Given the description of an element on the screen output the (x, y) to click on. 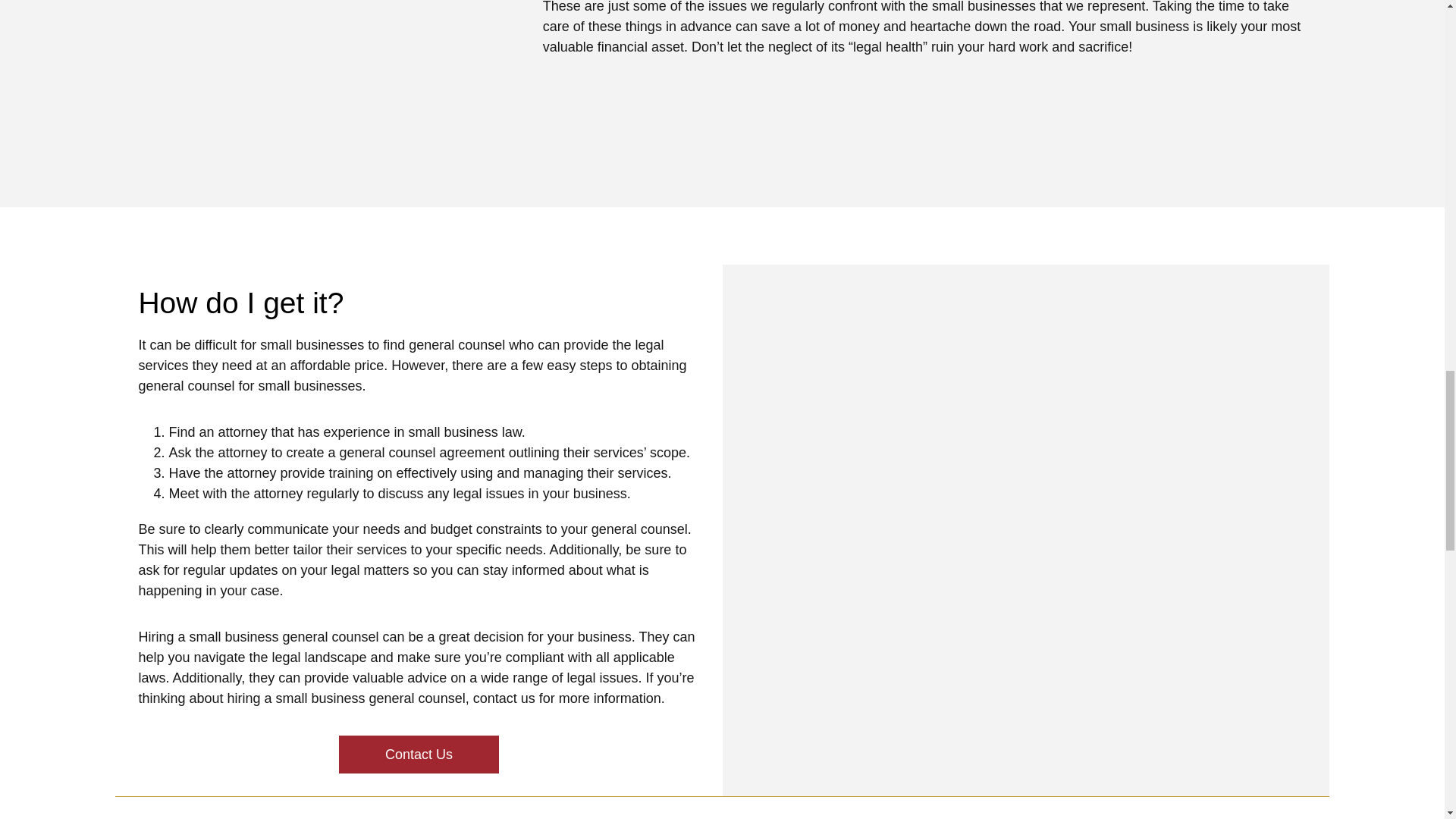
Contact Us (419, 754)
